Given the description of an element on the screen output the (x, y) to click on. 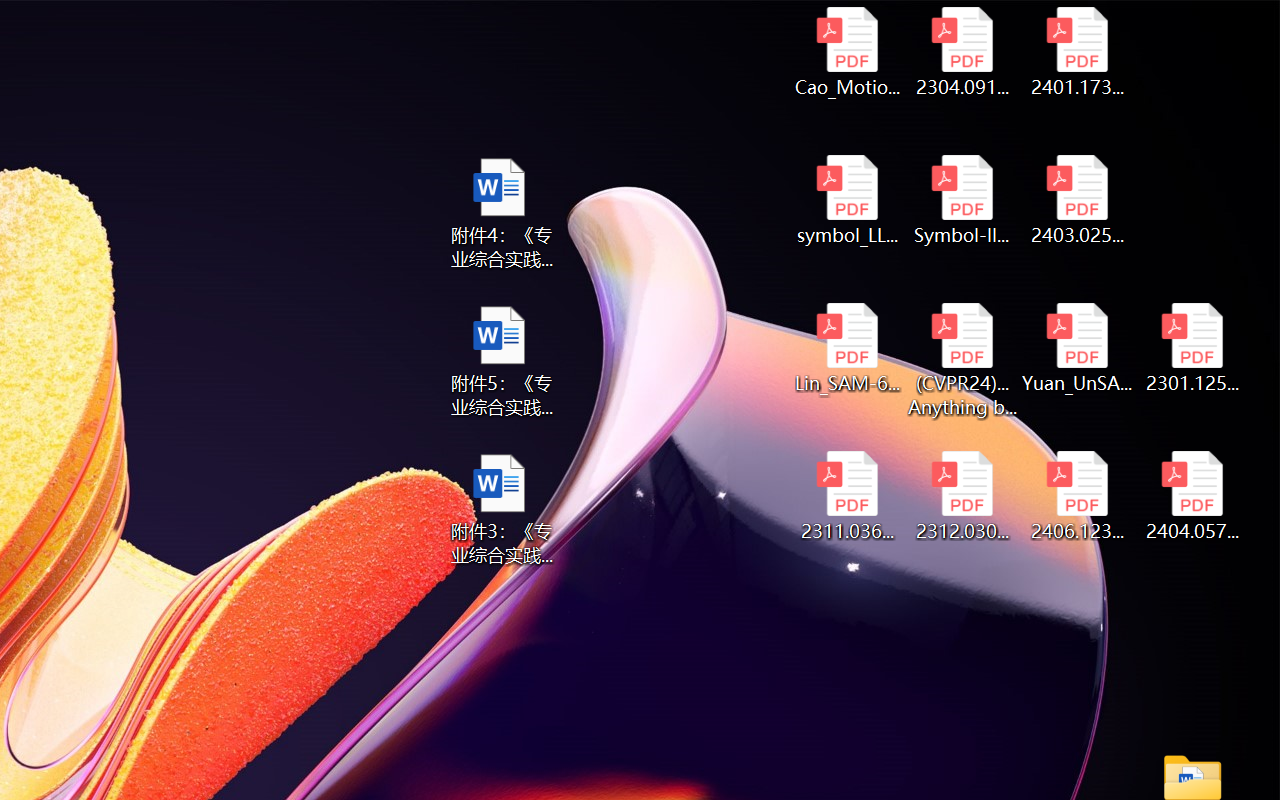
2401.17399v1.pdf (1077, 52)
2404.05719v1.pdf (1192, 496)
2311.03658v2.pdf (846, 496)
2304.09121v3.pdf (962, 52)
2301.12597v3.pdf (1192, 348)
2406.12373v2.pdf (1077, 496)
Symbol-llm-v2.pdf (962, 200)
2403.02502v1.pdf (1077, 200)
2312.03032v2.pdf (962, 496)
